Given the description of an element on the screen output the (x, y) to click on. 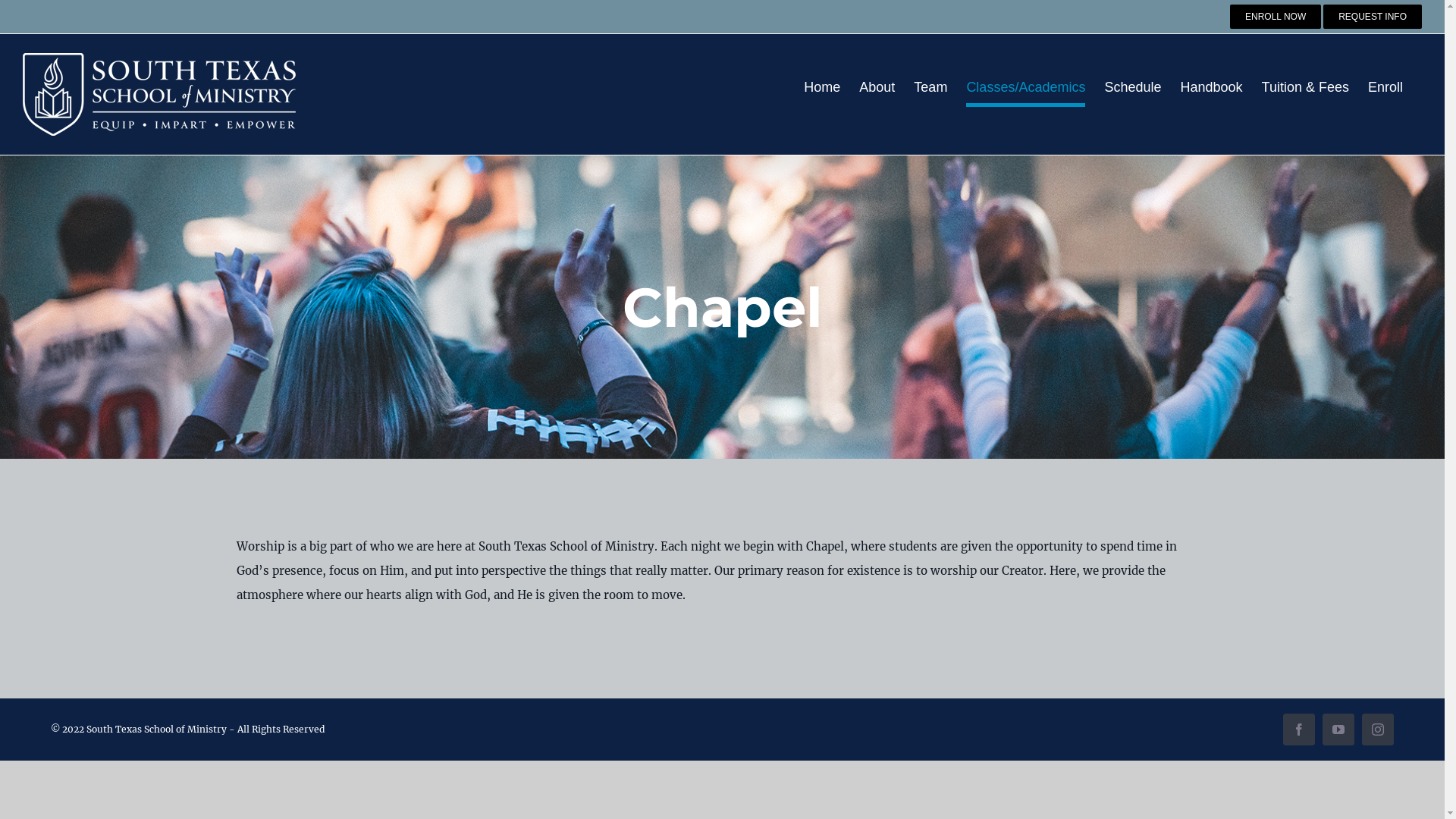
Classes/Academics Element type: text (1025, 87)
About Element type: text (876, 87)
Team Element type: text (930, 87)
YouTube Element type: text (1338, 729)
ENROLL NOW Element type: text (1275, 16)
Enroll Element type: text (1385, 87)
Tuition & Fees Element type: text (1305, 87)
Instagram Element type: text (1377, 729)
Handbook Element type: text (1210, 87)
Home Element type: text (821, 87)
Facebook Element type: text (1298, 729)
REQUEST INFO Element type: text (1372, 16)
Schedule Element type: text (1132, 87)
